Given the description of an element on the screen output the (x, y) to click on. 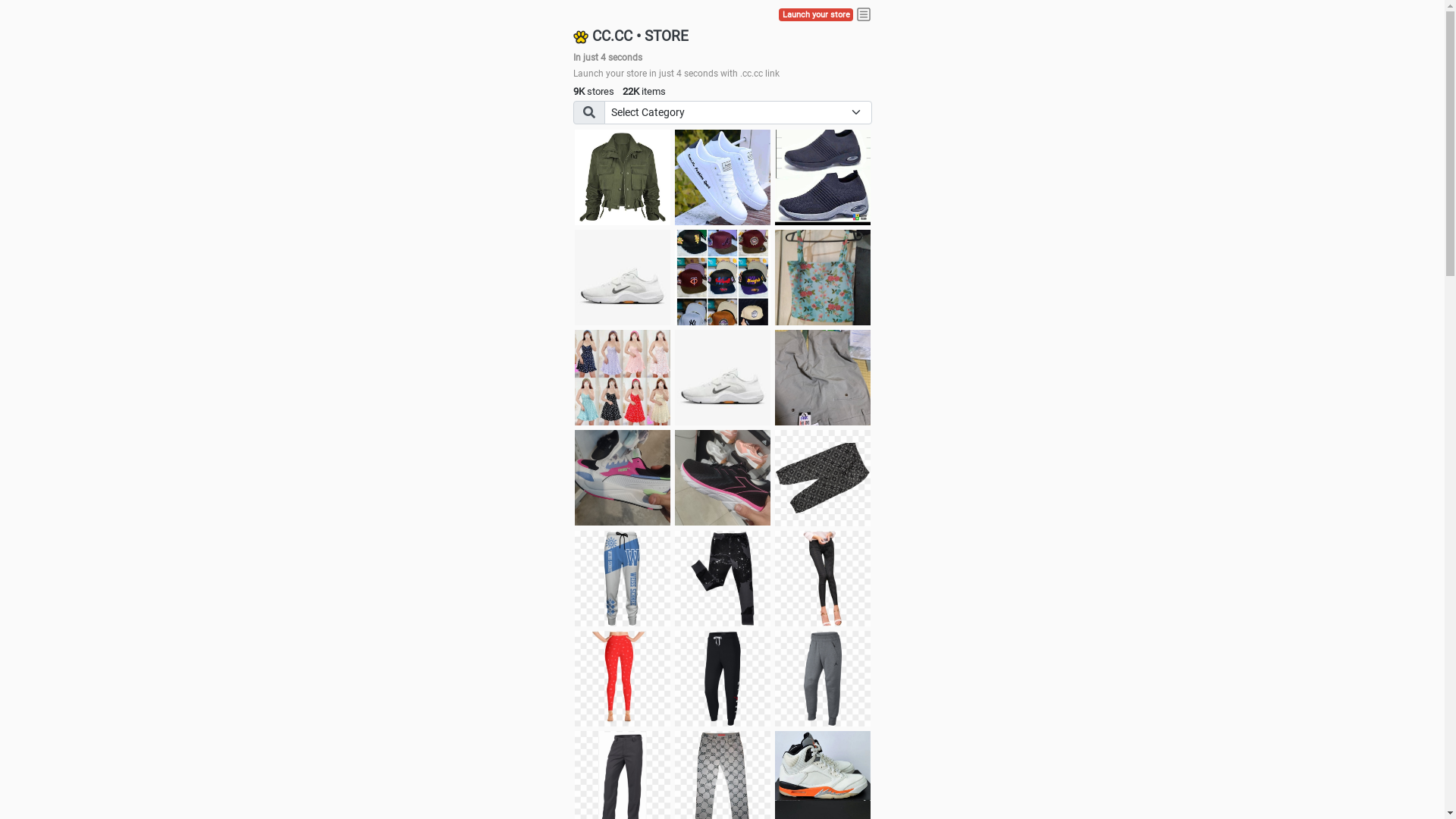
Shoes for boys Element type: hover (622, 277)
Launch your store Element type: text (815, 14)
Shoes Element type: hover (722, 377)
Zapatillas pumas Element type: hover (622, 477)
Dress/square nect top Element type: hover (622, 377)
Things we need Element type: hover (722, 277)
Pant Element type: hover (722, 678)
Ukay cloth Element type: hover (822, 277)
jacket Element type: hover (622, 177)
Short pant Element type: hover (822, 477)
Pant Element type: hover (822, 678)
Zapatillas Element type: hover (722, 477)
white shoes Element type: hover (722, 177)
shoes for boys Element type: hover (822, 177)
Pant Element type: hover (622, 678)
Pant Element type: hover (822, 578)
Pant Element type: hover (722, 578)
Pant Element type: hover (622, 578)
